Given the description of an element on the screen output the (x, y) to click on. 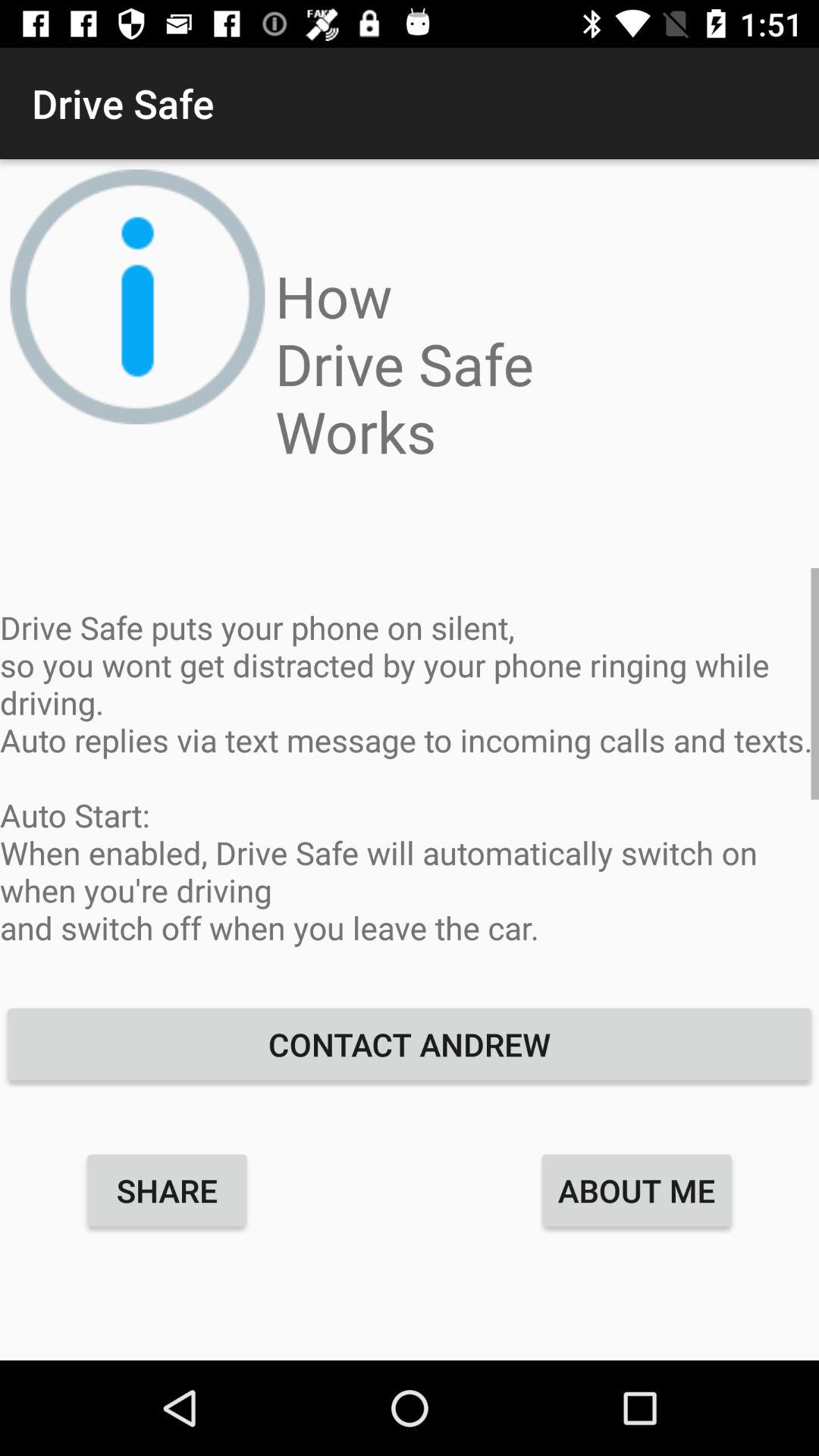
swipe until the share (166, 1190)
